Given the description of an element on the screen output the (x, y) to click on. 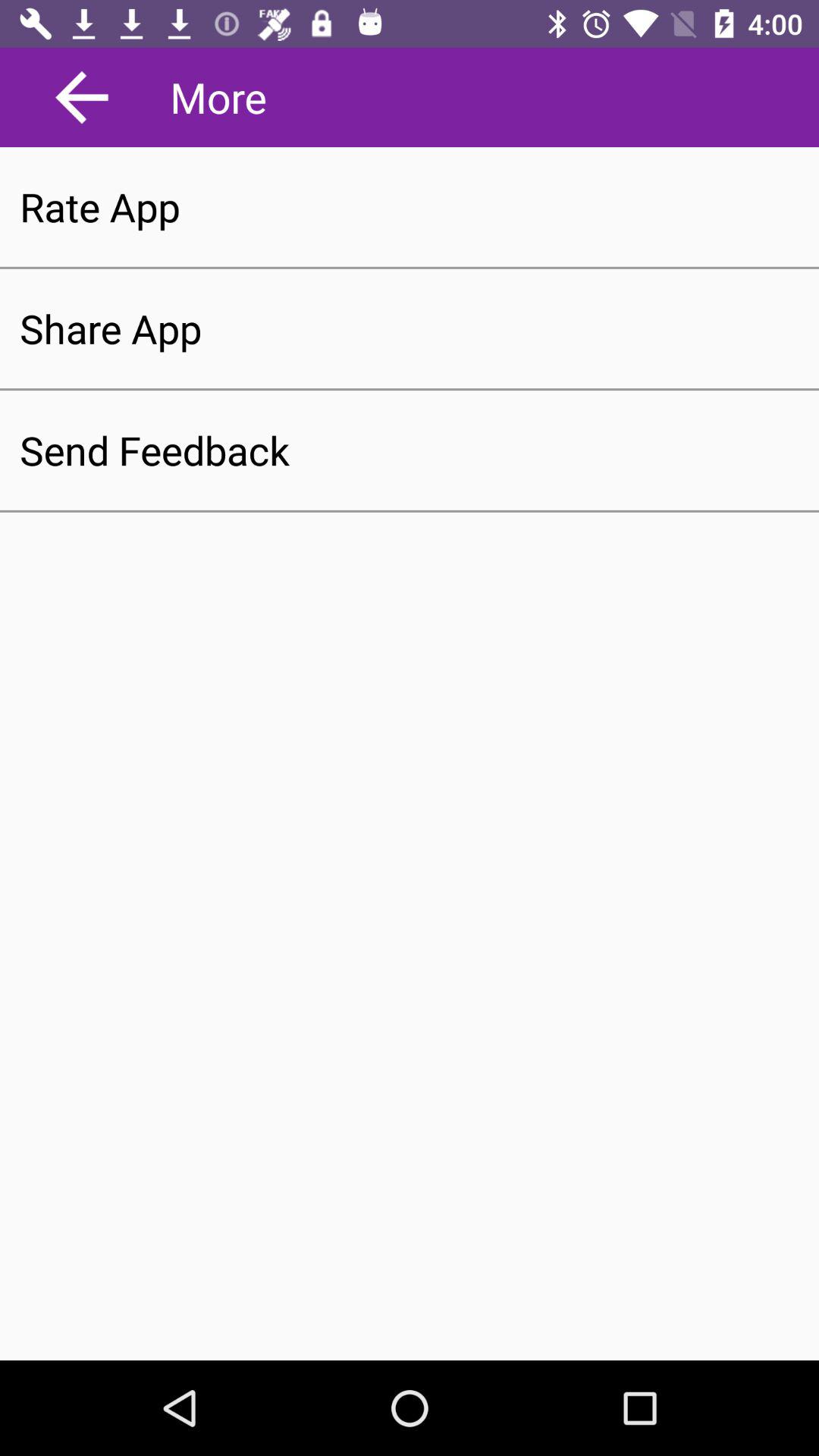
choose share app (409, 328)
